Given the description of an element on the screen output the (x, y) to click on. 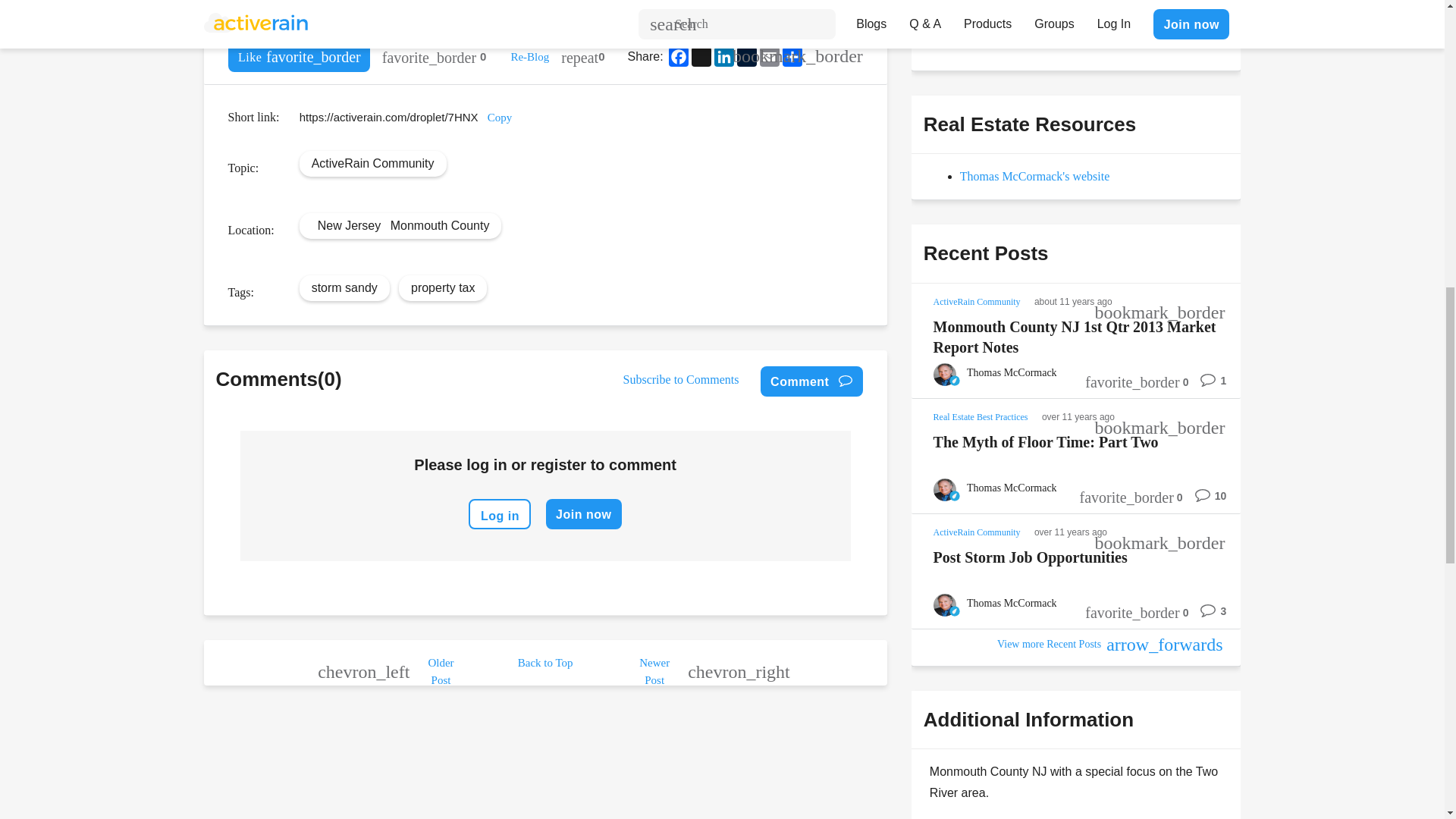
X (701, 56)
LinkedIn (724, 56)
Facebook (678, 56)
property tax (442, 286)
storm sandy (344, 286)
Monmouth County (439, 224)
Re-Blog (529, 56)
Email (769, 56)
Tumblr (746, 56)
Send Message (978, 30)
